Given the description of an element on the screen output the (x, y) to click on. 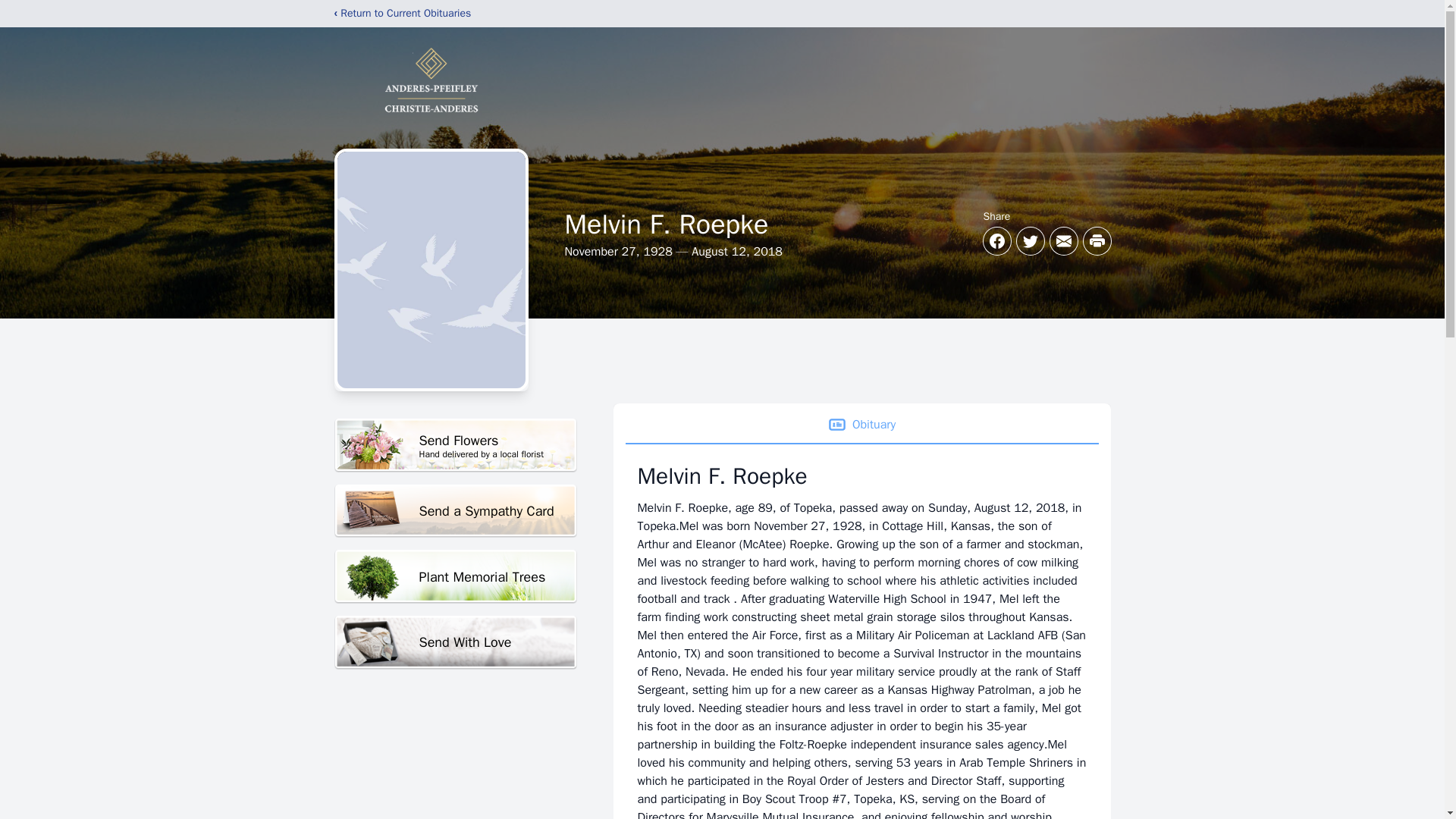
Plant Memorial Trees (454, 576)
Send a Sympathy Card (454, 445)
Send With Love (454, 511)
Obituary (454, 642)
